Given the description of an element on the screen output the (x, y) to click on. 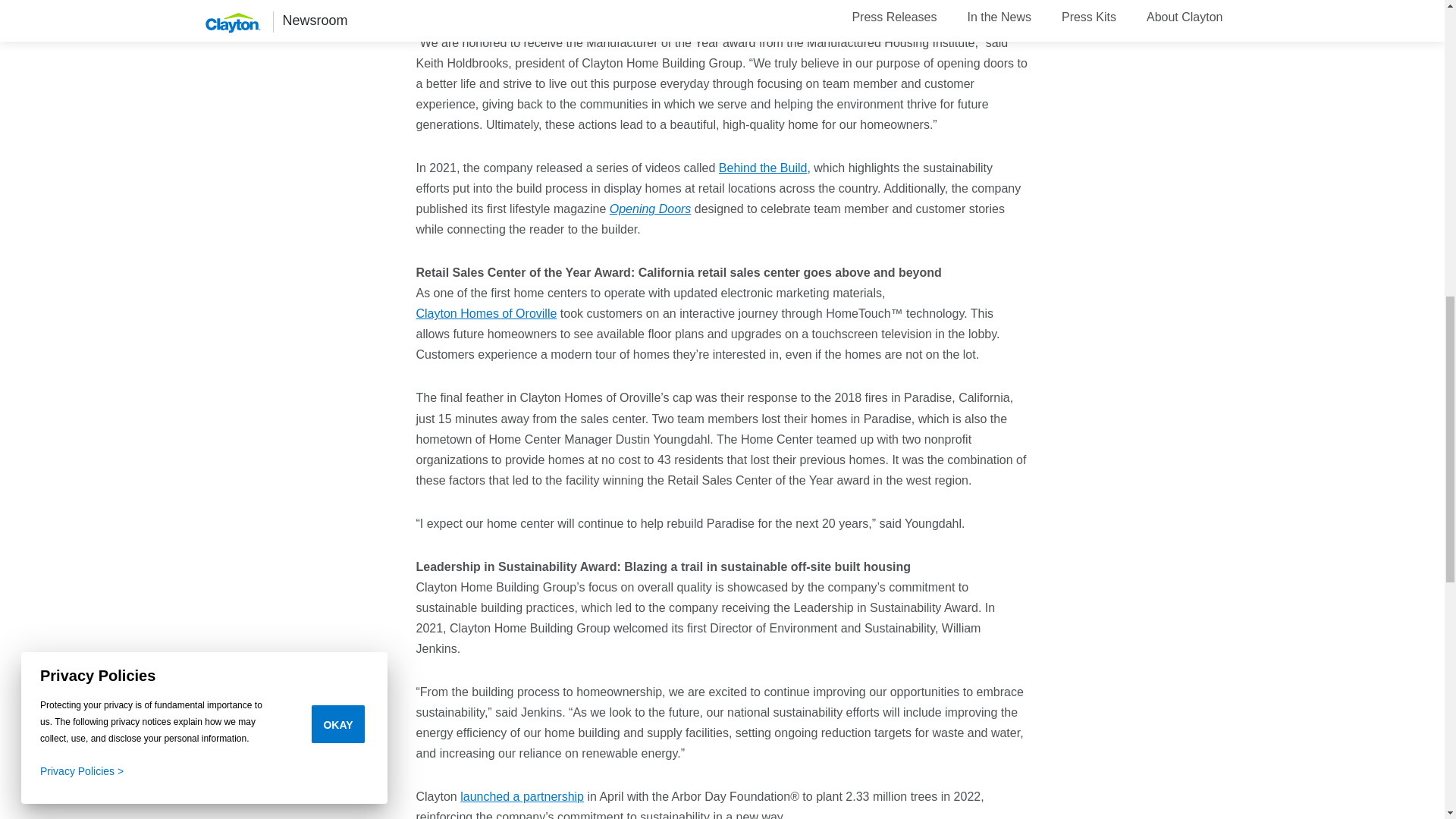
Behind the Build (763, 168)
launched a partnership (521, 796)
Opening Doors (650, 209)
Clayton Homes of Oroville (485, 313)
